Given the description of an element on the screen output the (x, y) to click on. 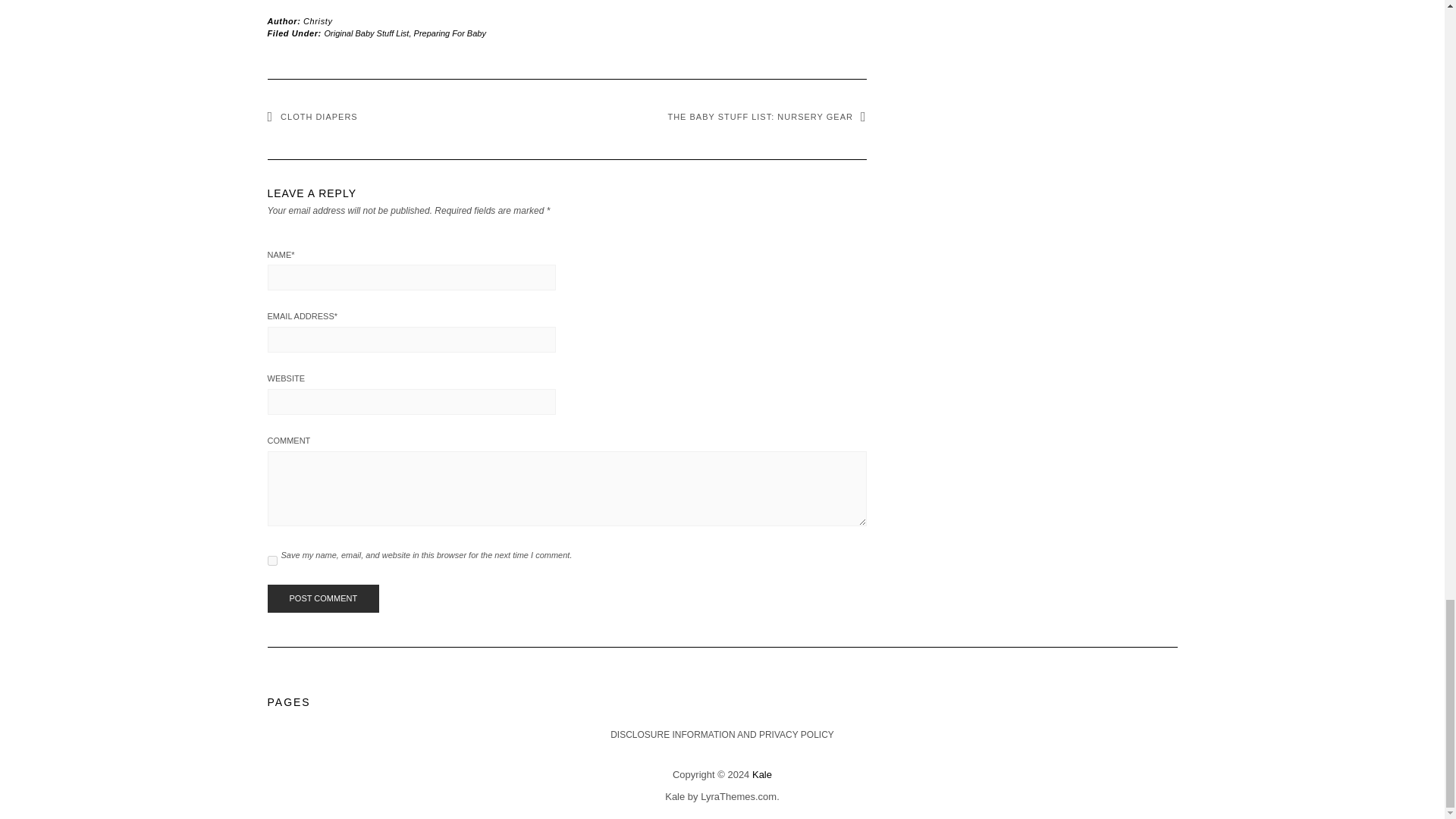
Post Comment (322, 598)
Posts by Christy (316, 20)
yes (271, 560)
